Given the description of an element on the screen output the (x, y) to click on. 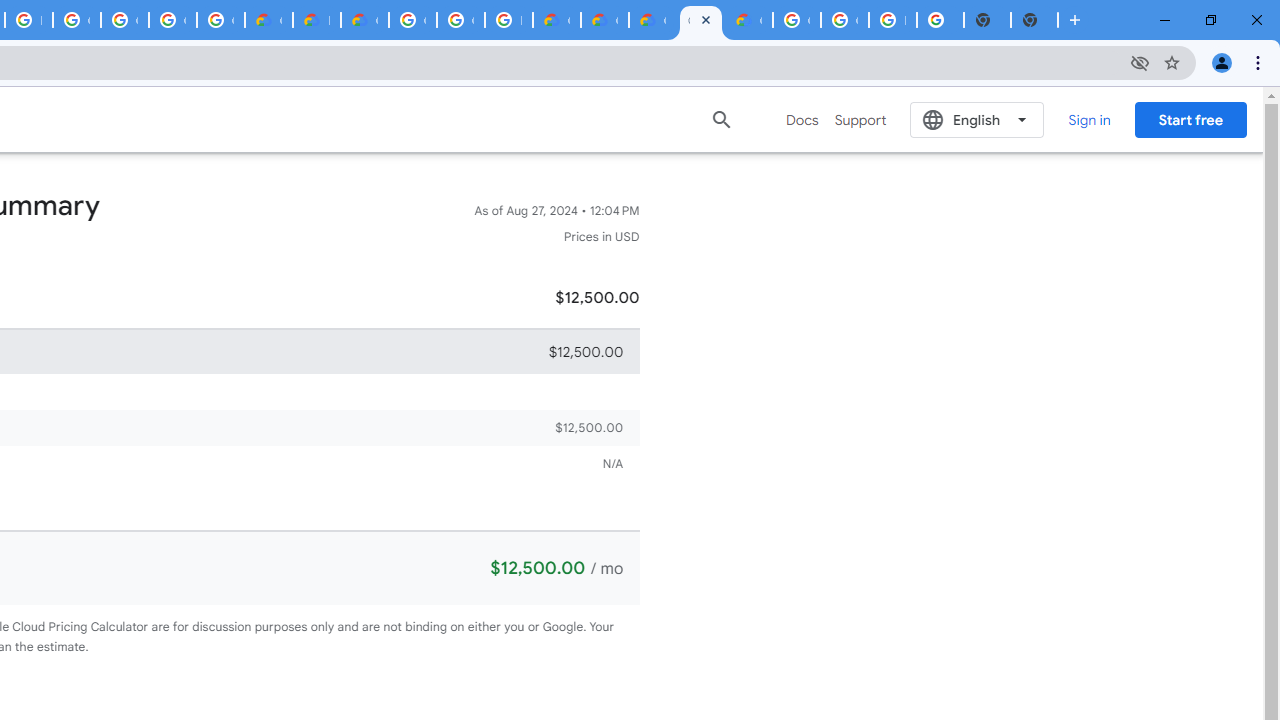
Start free (1190, 119)
Google Cloud Platform (460, 20)
